Given the description of an element on the screen output the (x, y) to click on. 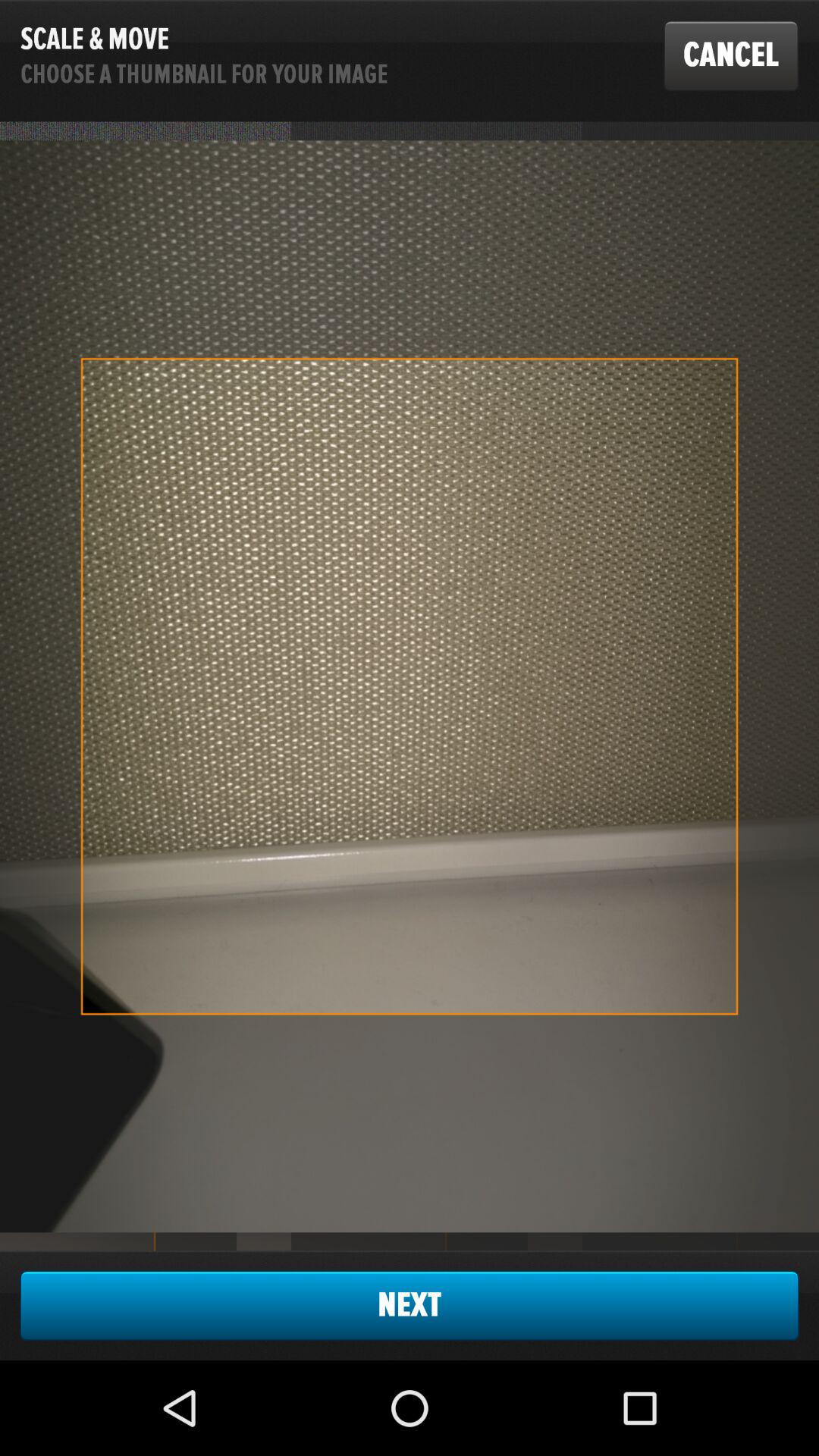
turn off the cancel at the top right corner (730, 55)
